Given the description of an element on the screen output the (x, y) to click on. 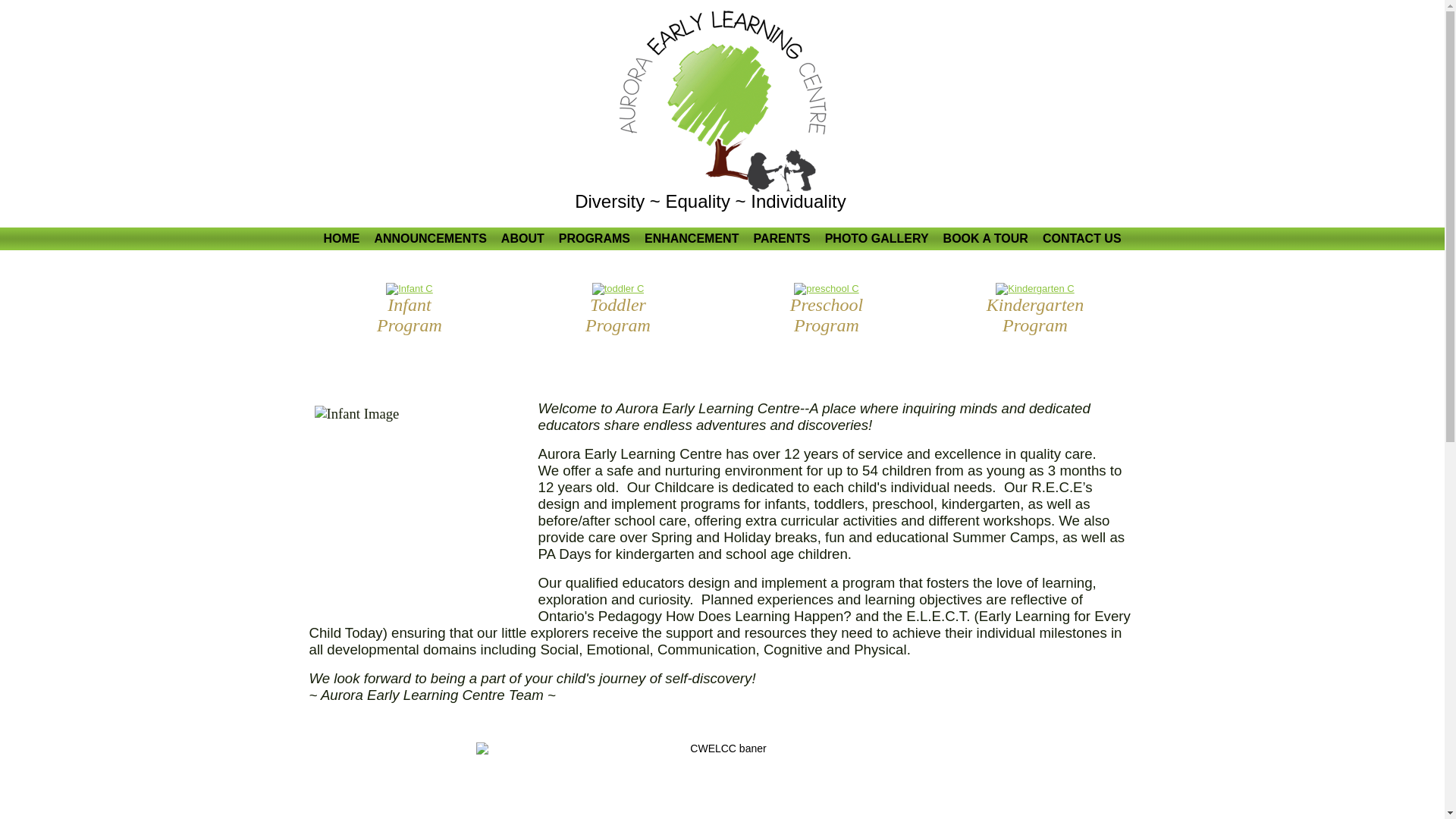
PARENTS Element type: text (781, 238)
ANNOUNCEMENTS Element type: text (429, 238)
Website Home Element type: hover (721, 101)
PROGRAMS Element type: text (594, 238)
ENHANCEMENT Element type: text (691, 238)
ABOUT Element type: text (522, 238)
BOOK A TOUR Element type: text (985, 238)
Diversity ~ Equality ~ Individuality Element type: text (710, 201)
PHOTO GALLERY Element type: text (876, 238)
CONTACT US Element type: text (1081, 238)
HOME Element type: text (341, 238)
